Given the description of an element on the screen output the (x, y) to click on. 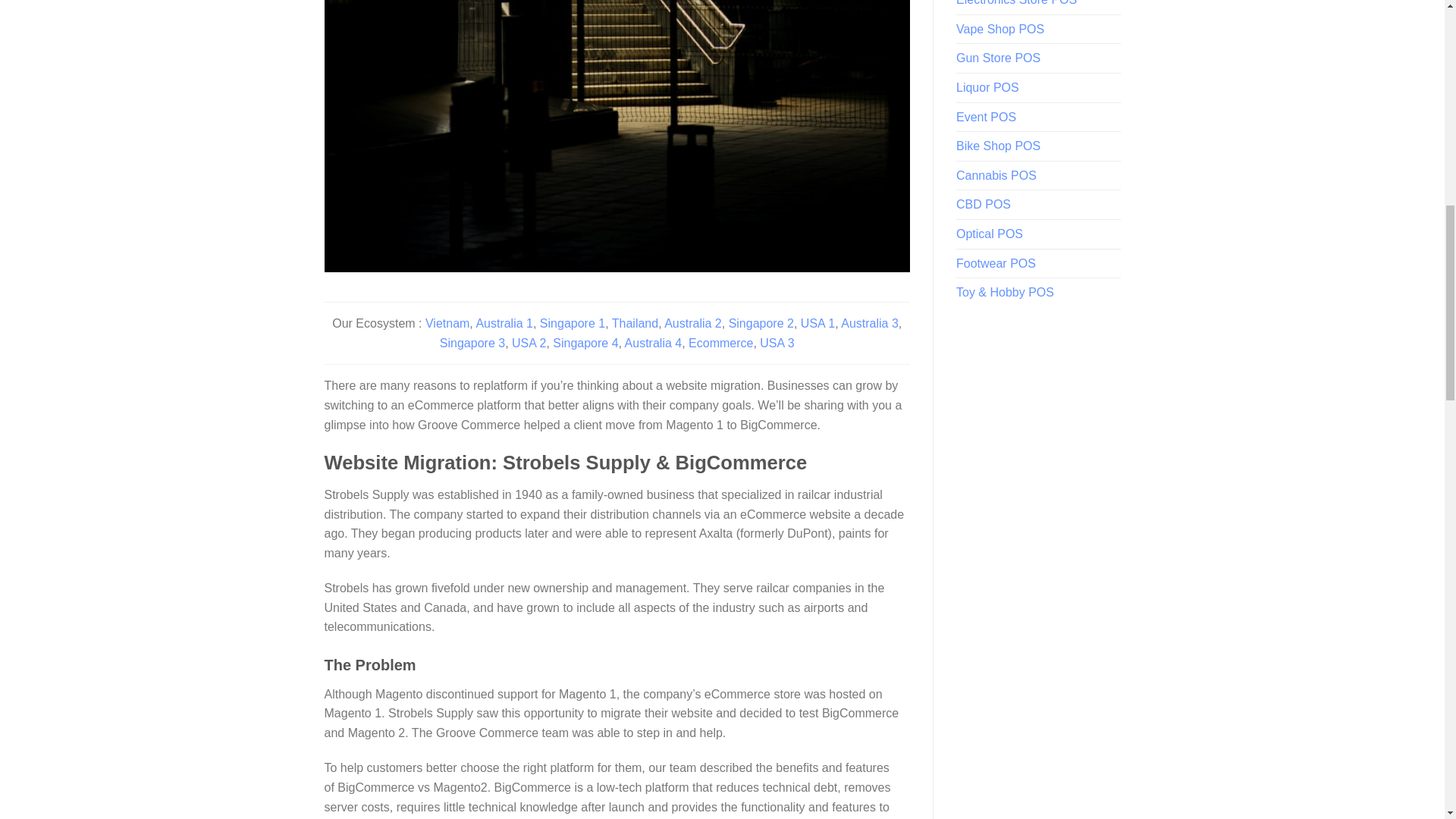
USA 2 (529, 342)
Australia 2 (692, 323)
Ecommerce (720, 342)
Australia 1 (504, 323)
Singapore 3 (472, 342)
Singapore 1 (572, 323)
Australia 4 (653, 342)
USA 1 (817, 323)
USA 3 (776, 342)
Thailand (634, 323)
